Given the description of an element on the screen output the (x, y) to click on. 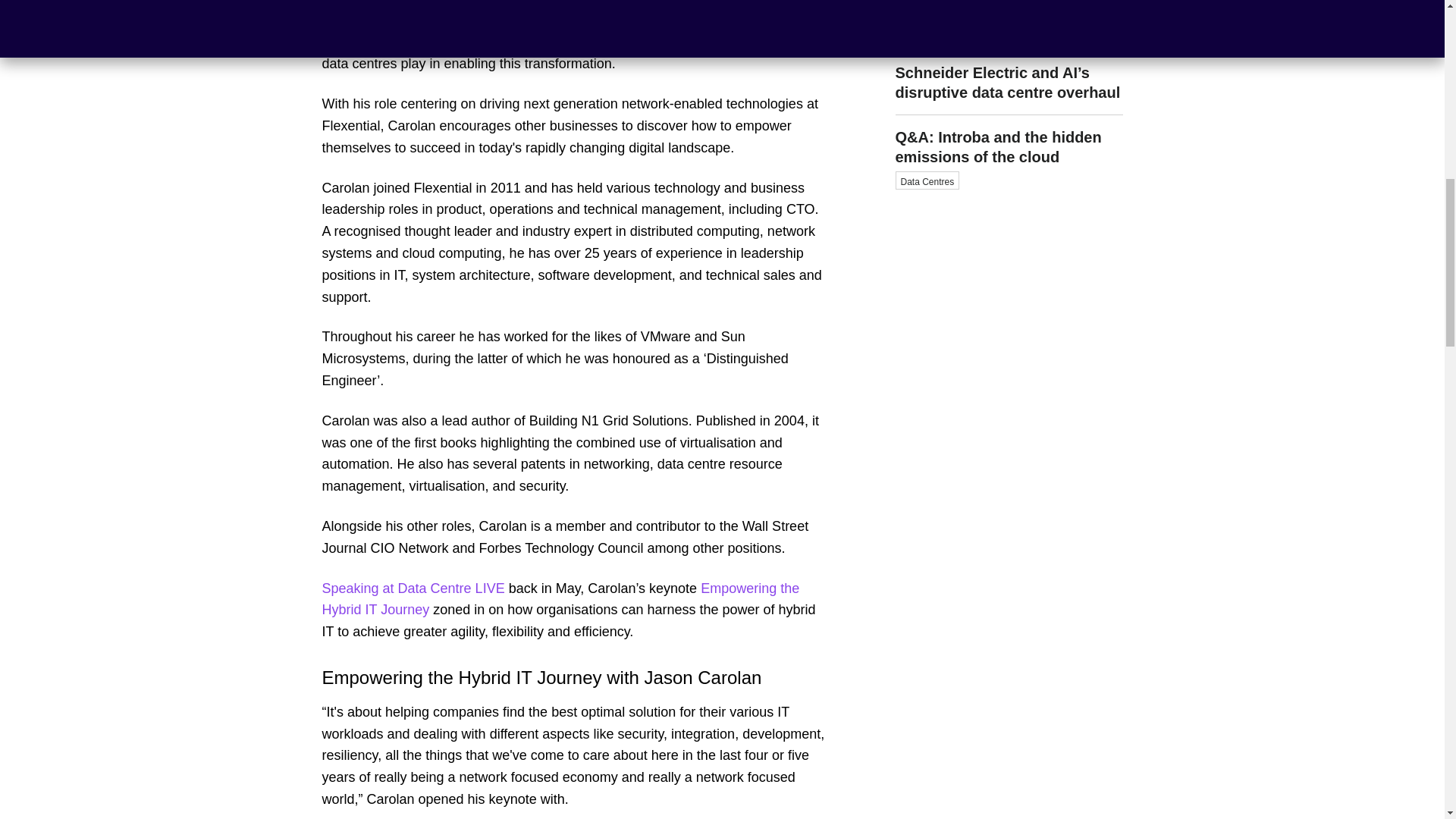
Data Centre LIVE (392, 2)
Jason Carolan (748, 2)
Natalya Makarochkina (1008, 27)
Speaking at Data Centre LIVE (412, 588)
Empowering the Hybrid IT Journey (560, 599)
Flexential (1008, 3)
